Given the description of an element on the screen output the (x, y) to click on. 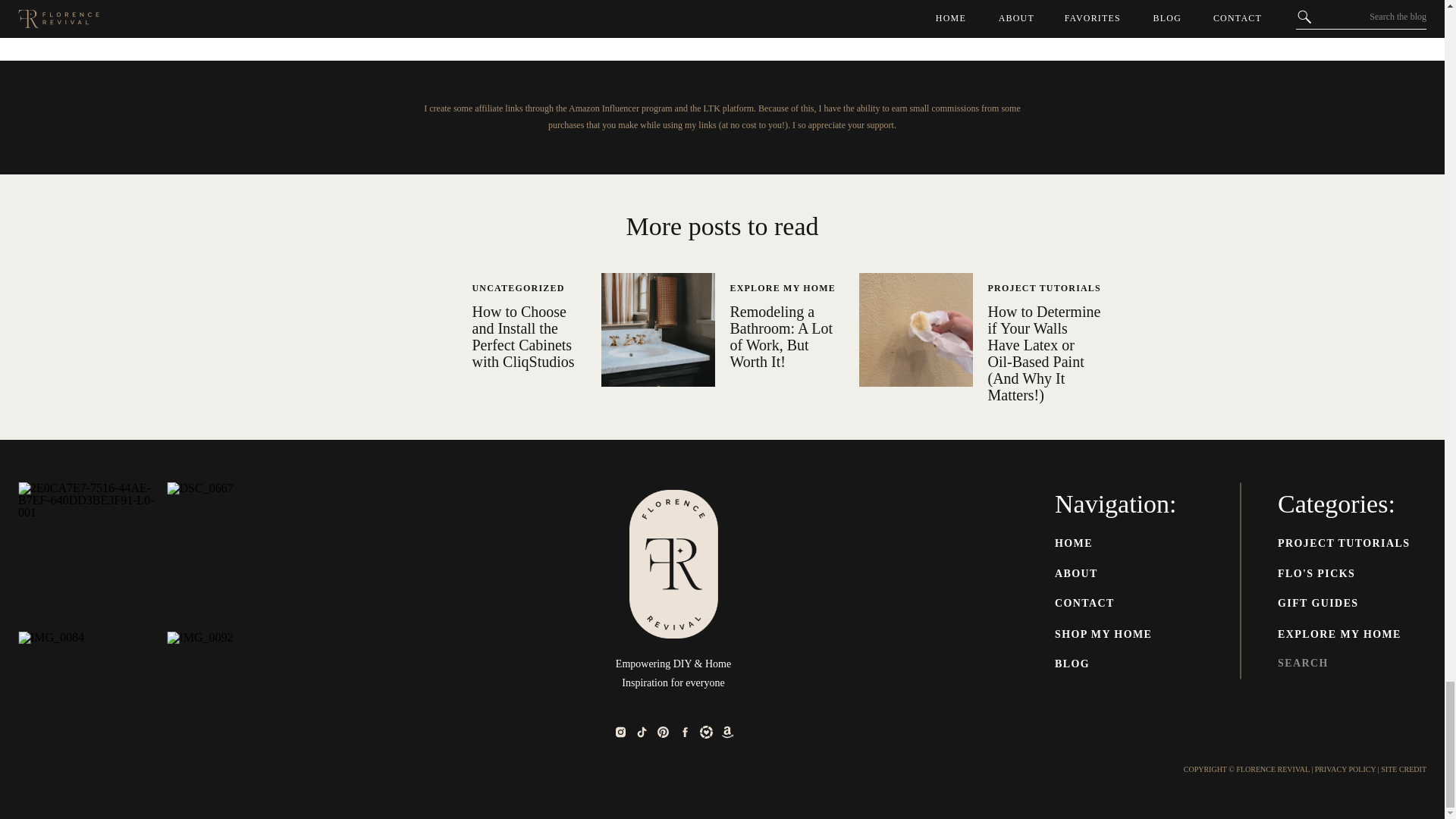
UNCATEGORIZED (517, 287)
Remodeling a Bathroom: A Lot of Work, But Worth It! (780, 336)
2E0CA7E7-7516-44AE-B7EF-640DD3BE3F91-L0-001 (90, 555)
EXPLORE MY HOME (782, 287)
PROJECT TUTORIALS (1043, 287)
